Given the description of an element on the screen output the (x, y) to click on. 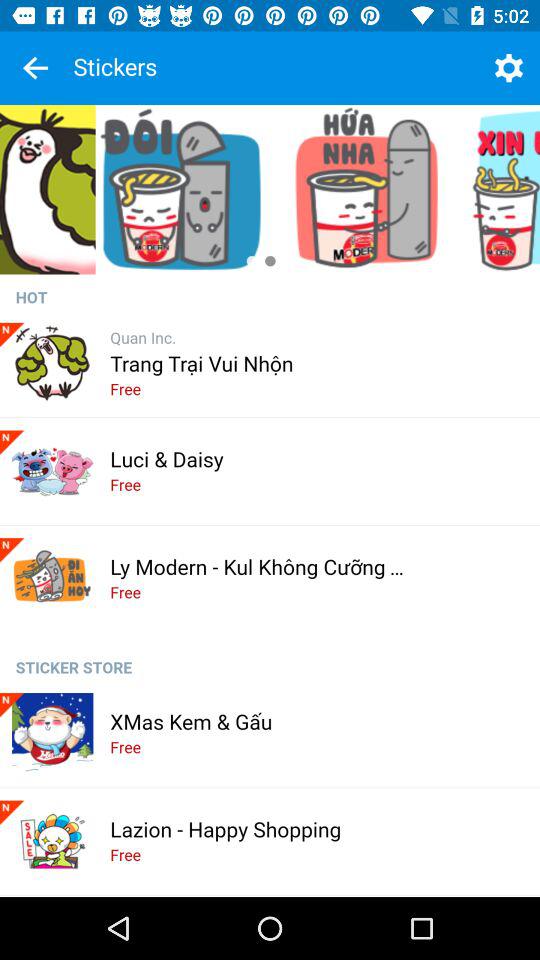
game settings (508, 68)
